Given the description of an element on the screen output the (x, y) to click on. 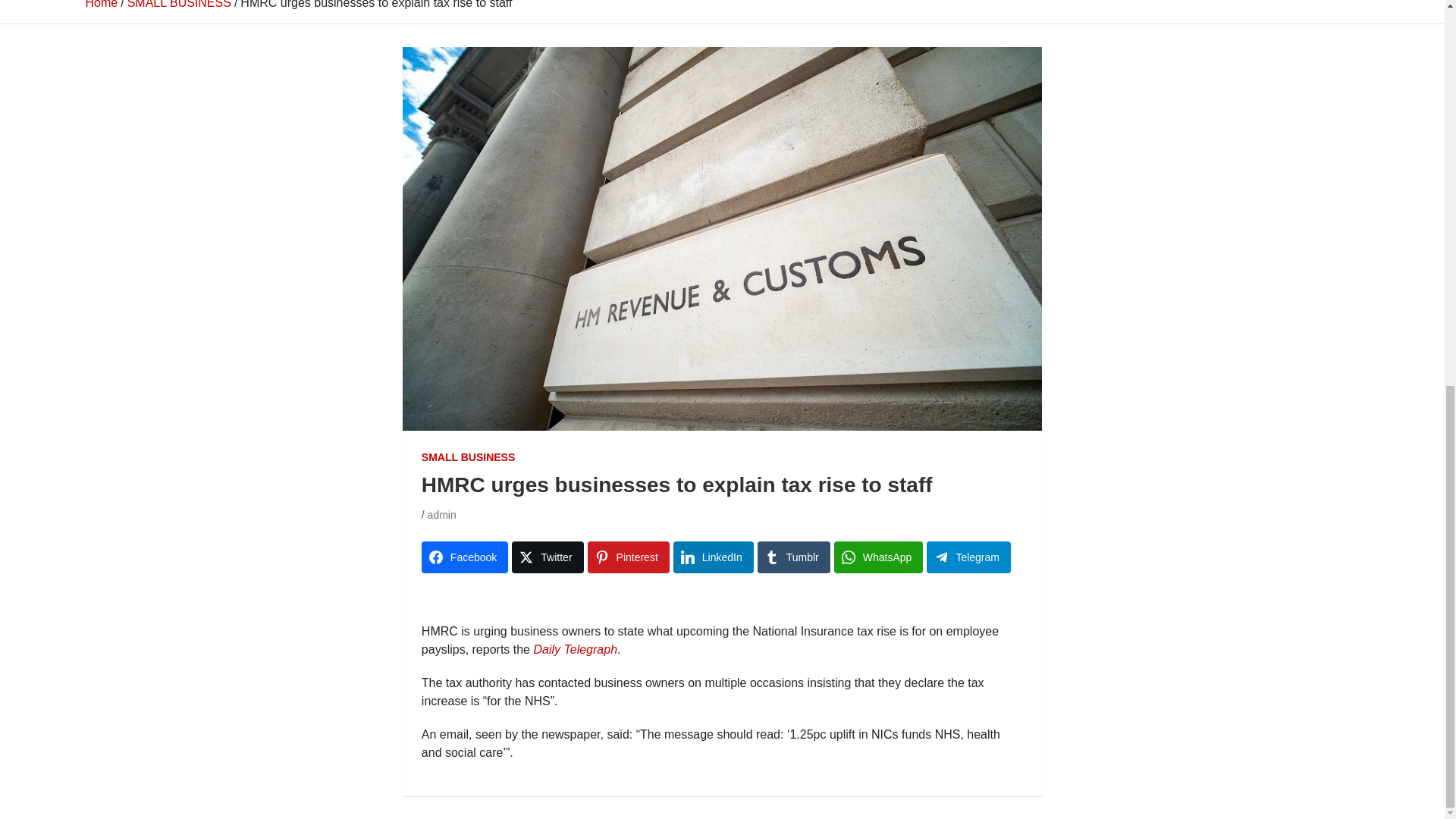
Share on Telegram (968, 557)
Twitter (547, 557)
Share on Tumblr (793, 557)
WhatsApp (878, 557)
SMALL BUSINESS (468, 457)
Tumblr (793, 557)
Facebook (465, 557)
Share on Facebook (465, 557)
LinkedIn (713, 557)
admin (442, 514)
